Given the description of an element on the screen output the (x, y) to click on. 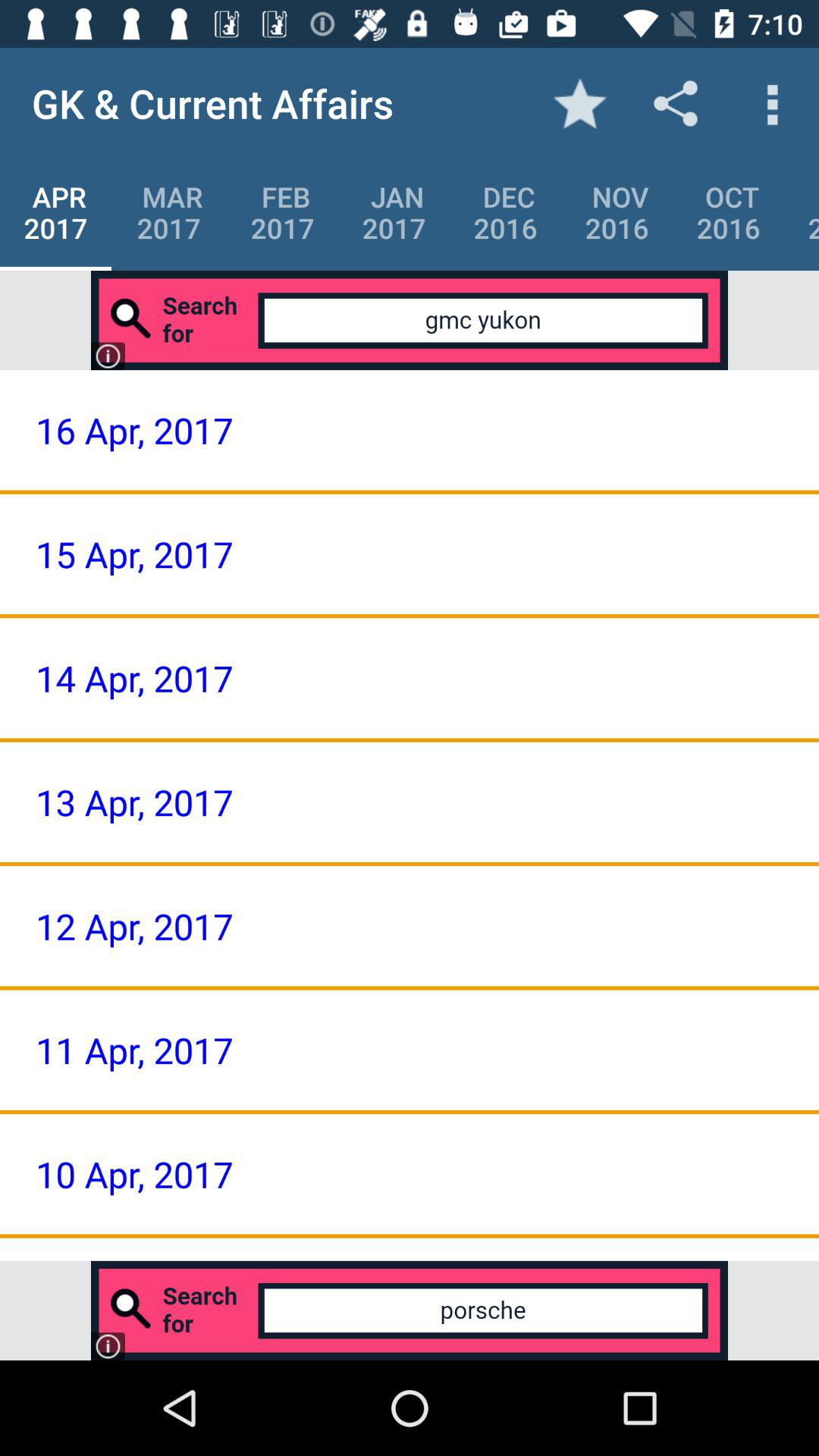
type here to search what you need (409, 1310)
